Given the description of an element on the screen output the (x, y) to click on. 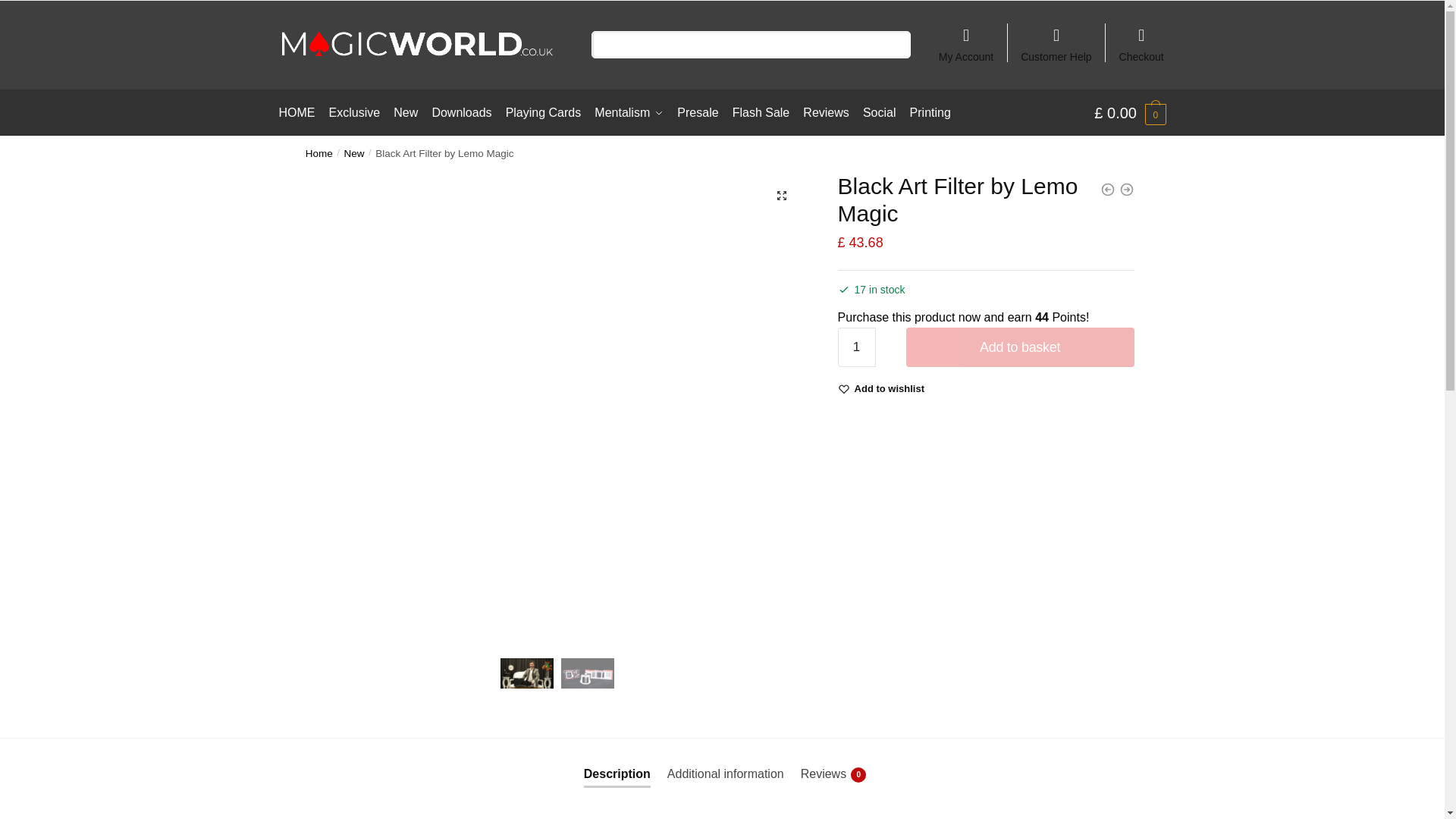
Checkout (1141, 37)
Playing Cards (543, 112)
Wishlist (889, 388)
Printing (930, 112)
Social (879, 112)
New (354, 153)
Home (319, 153)
Downloads (462, 112)
Flash Sale (760, 112)
View your shopping cart (1130, 112)
